Given the description of an element on the screen output the (x, y) to click on. 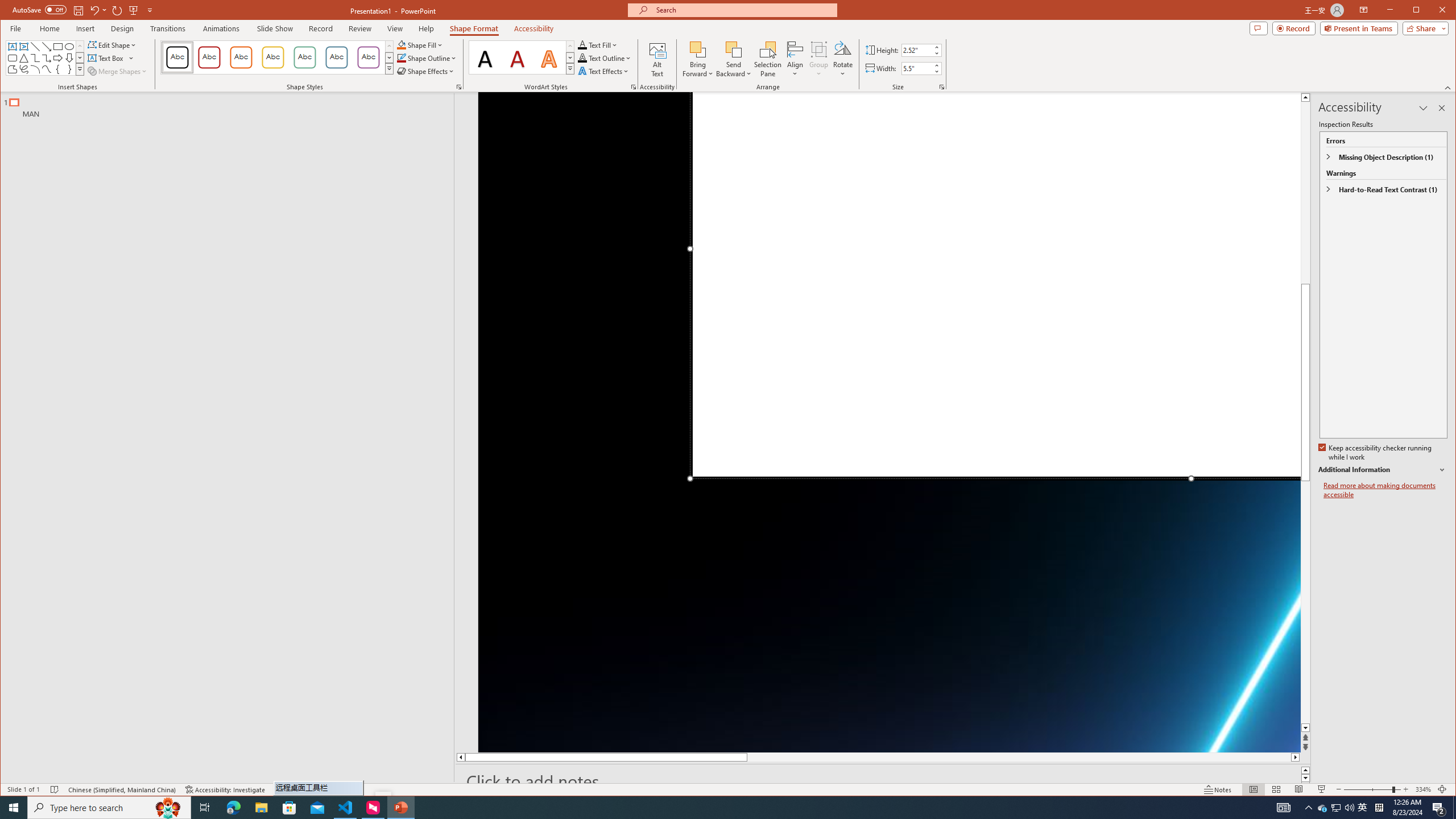
Bring Forward (697, 59)
Shape Fill Orange, Accent 2 (400, 44)
Shape Width (916, 68)
Bring Forward (697, 48)
Send Backward (733, 48)
